Given the description of an element on the screen output the (x, y) to click on. 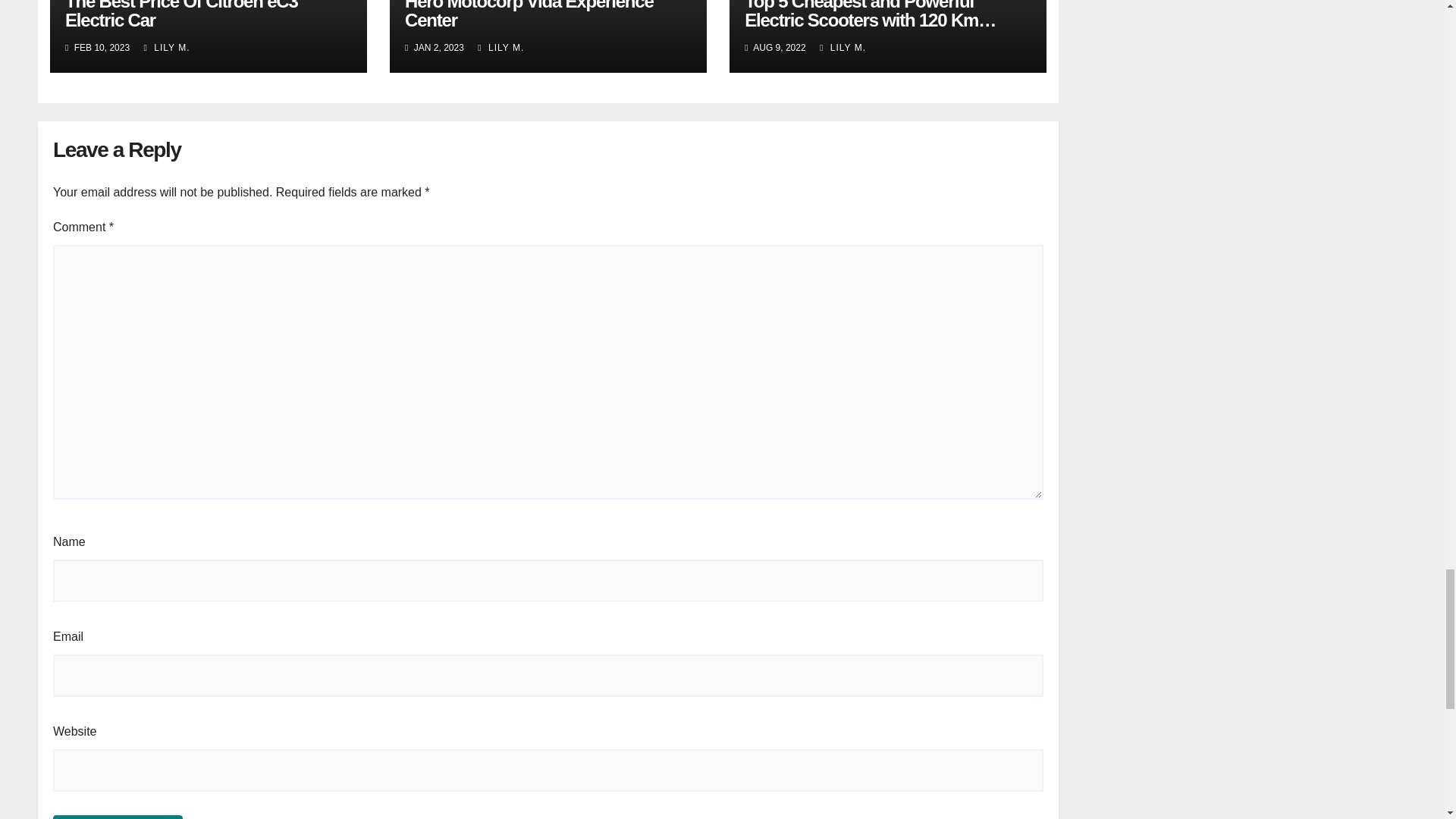
Post Comment (117, 816)
